Given the description of an element on the screen output the (x, y) to click on. 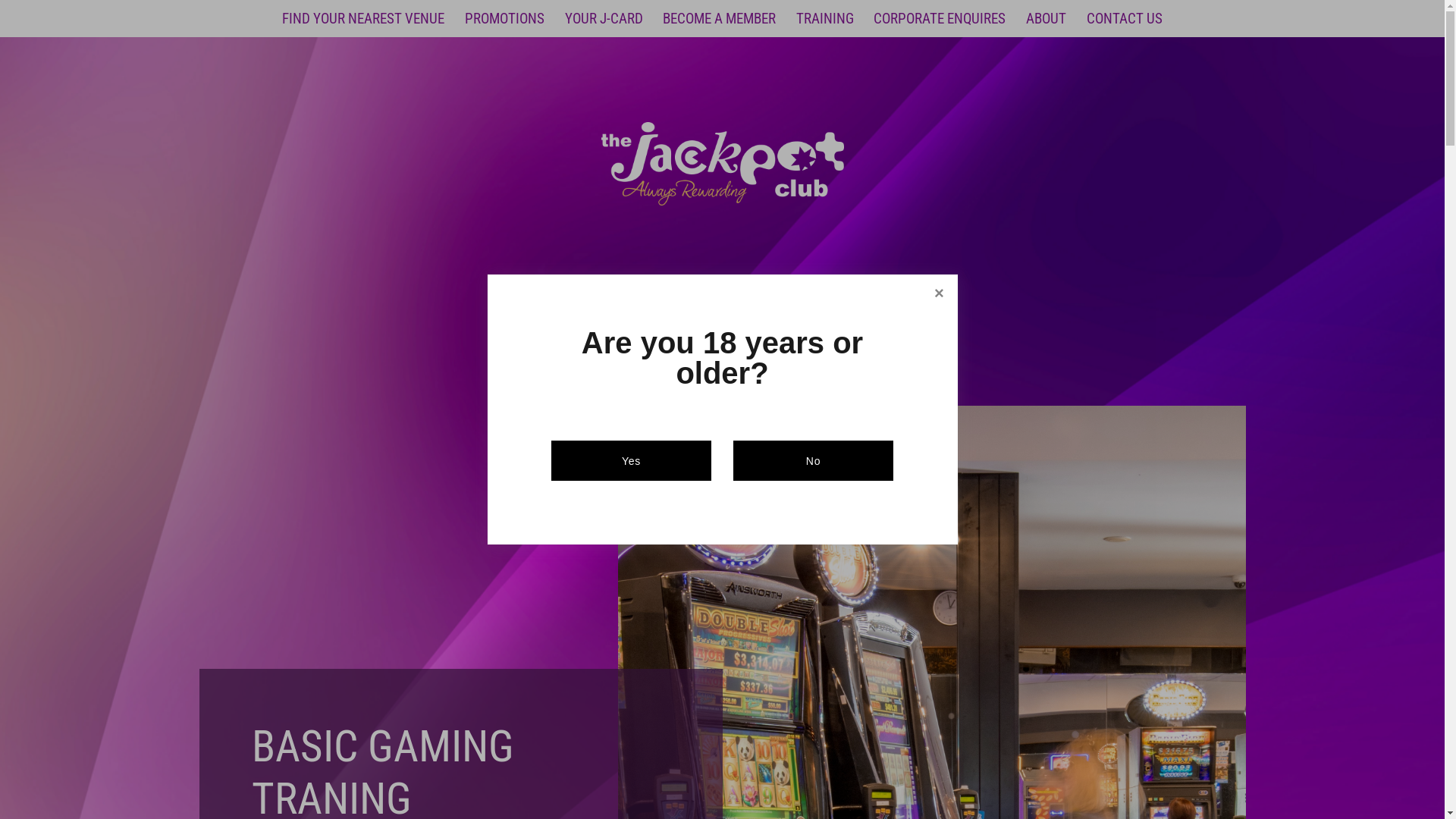
YOUR J-CARD Element type: text (603, 18)
ABOUT Element type: text (1046, 18)
PROMOTIONS Element type: text (504, 18)
Yes Element type: text (631, 460)
TRAINING Element type: text (824, 18)
CONTACT US Element type: text (1124, 18)
FIND YOUR NEAREST VENUE Element type: text (363, 18)
CORPORATE ENQUIRES Element type: text (939, 18)
No Element type: text (813, 460)
BECOME A MEMBER Element type: text (718, 18)
